Given the description of an element on the screen output the (x, y) to click on. 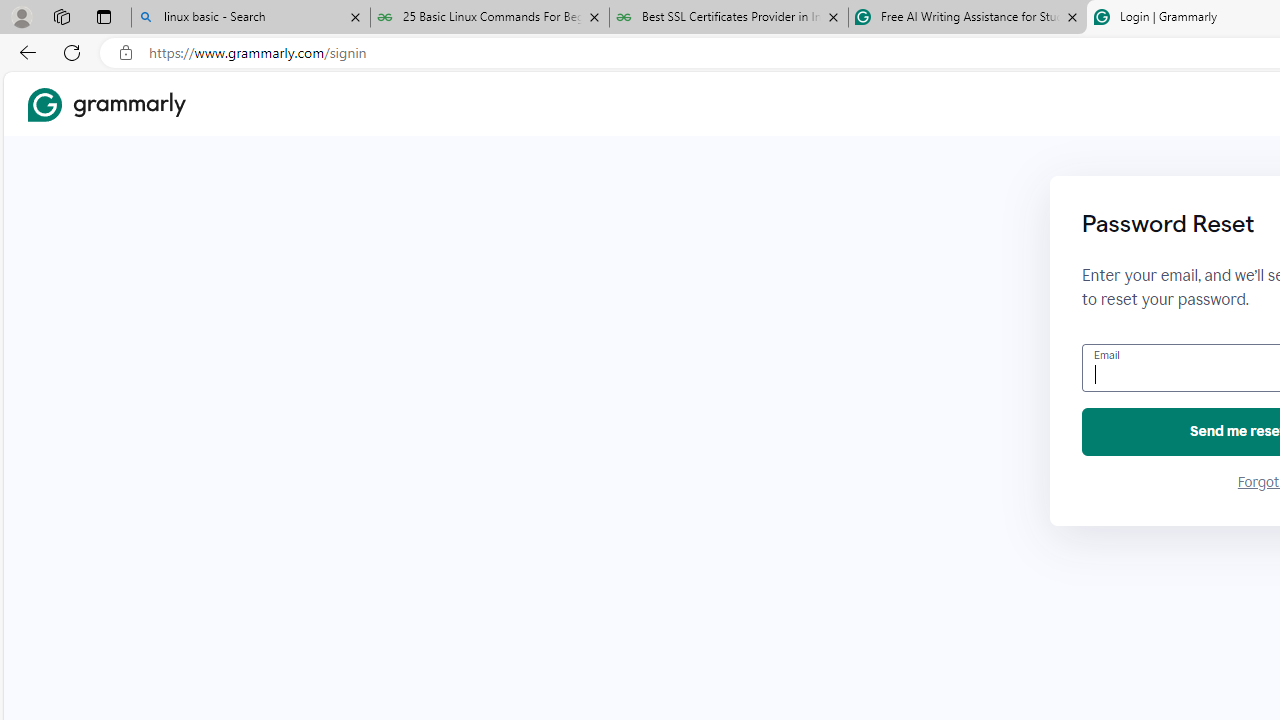
25 Basic Linux Commands For Beginners - GeeksforGeeks (490, 17)
Grammarly Home (106, 104)
Best SSL Certificates Provider in India - GeeksforGeeks (729, 17)
Grammarly Home (106, 103)
Free AI Writing Assistance for Students | Grammarly (967, 17)
linux basic - Search (250, 17)
